Given the description of an element on the screen output the (x, y) to click on. 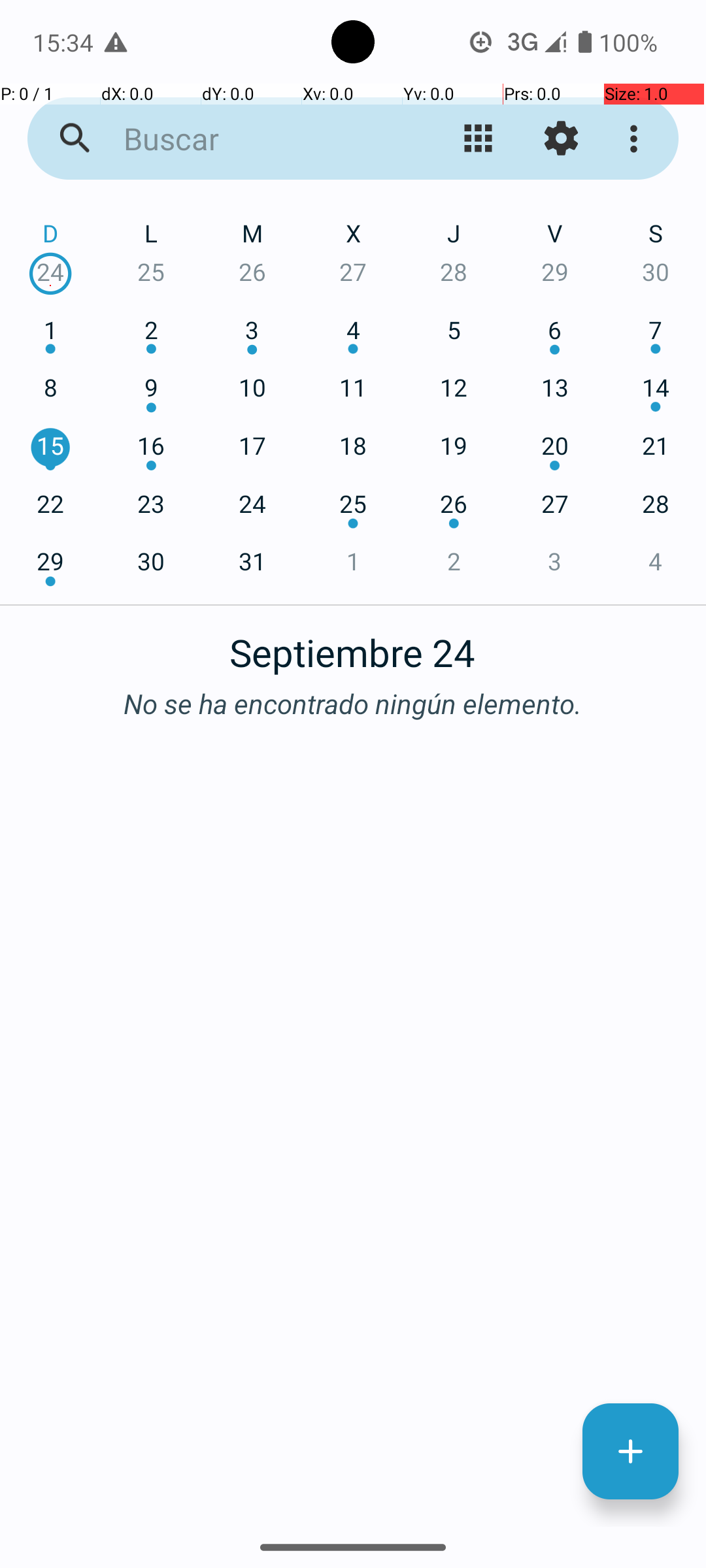
Septiembre 24 Element type: android.widget.TextView (352, 644)
No se ha encontrado ningún elemento. Element type: android.widget.TextView (352, 702)
